Given the description of an element on the screen output the (x, y) to click on. 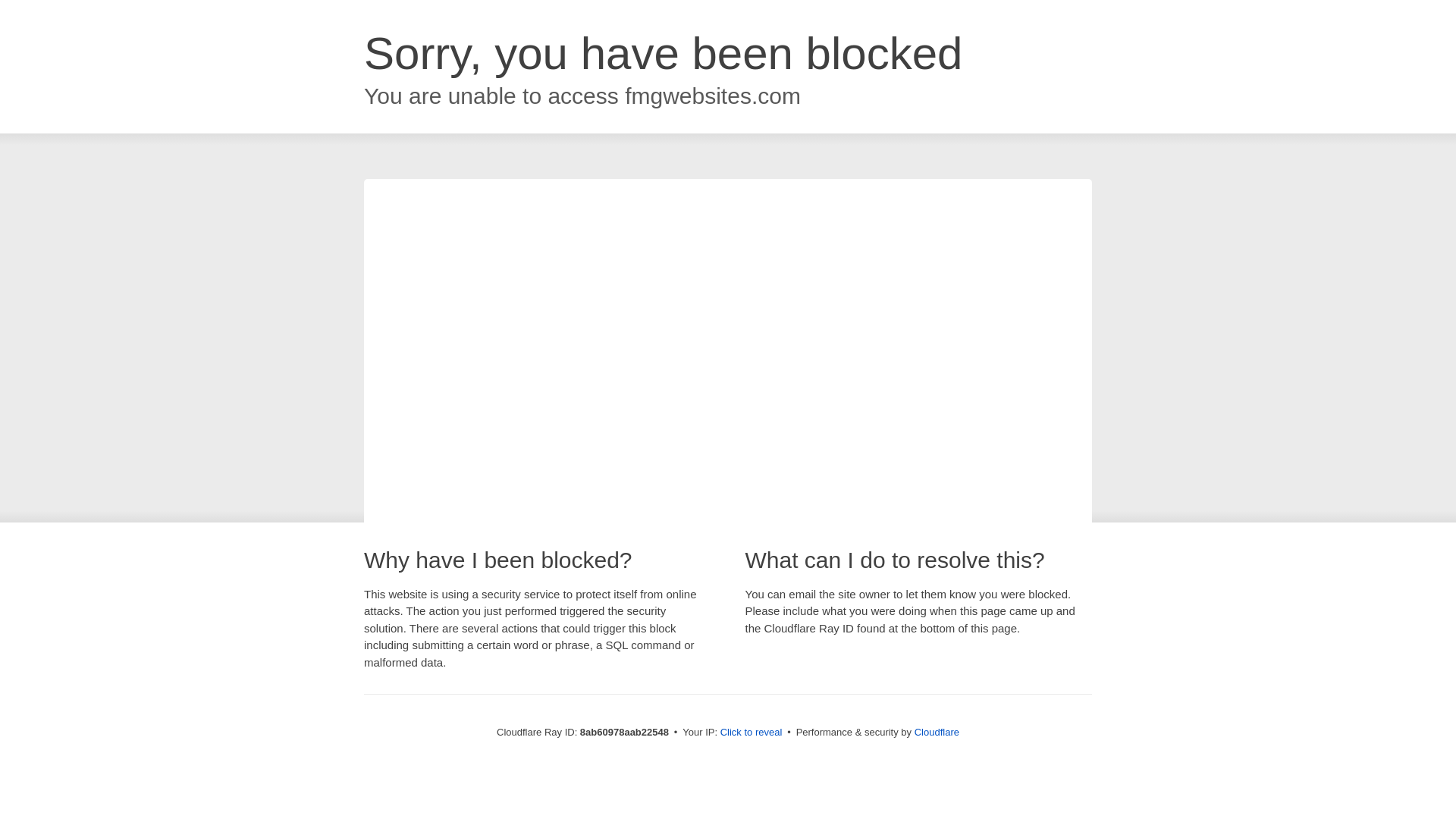
Cloudflare (936, 731)
Click to reveal (751, 732)
